Given the description of an element on the screen output the (x, y) to click on. 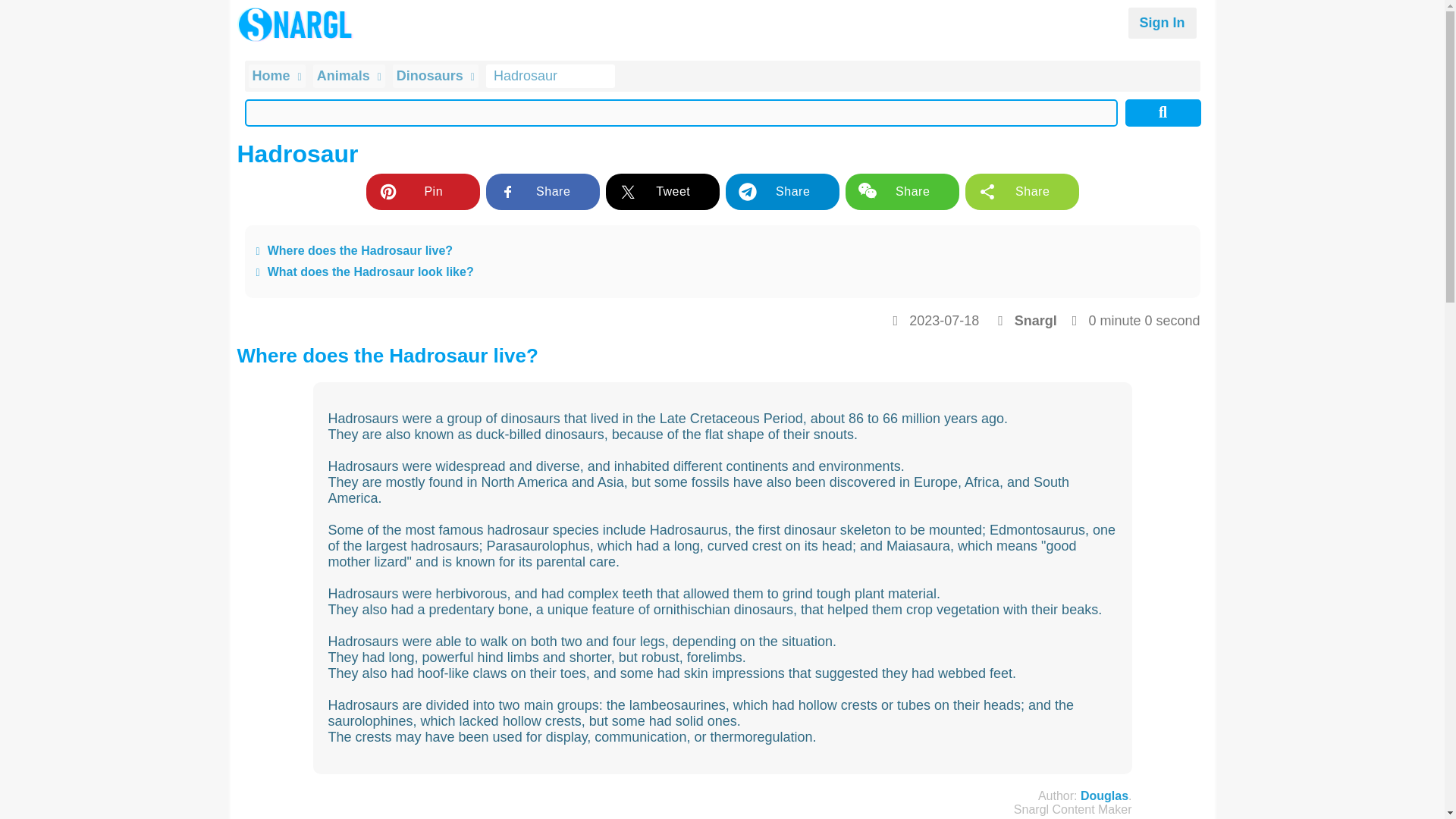
Snargl.com AI Illustrated Encyclopedia (296, 24)
Home (276, 75)
Where does the Hadrosaur live? (722, 250)
Animals (349, 75)
What does the Hadrosaur look like? (722, 272)
Search (1163, 112)
Sign In (1162, 22)
Douglas (1104, 795)
Dinosaurs (436, 75)
